Given the description of an element on the screen output the (x, y) to click on. 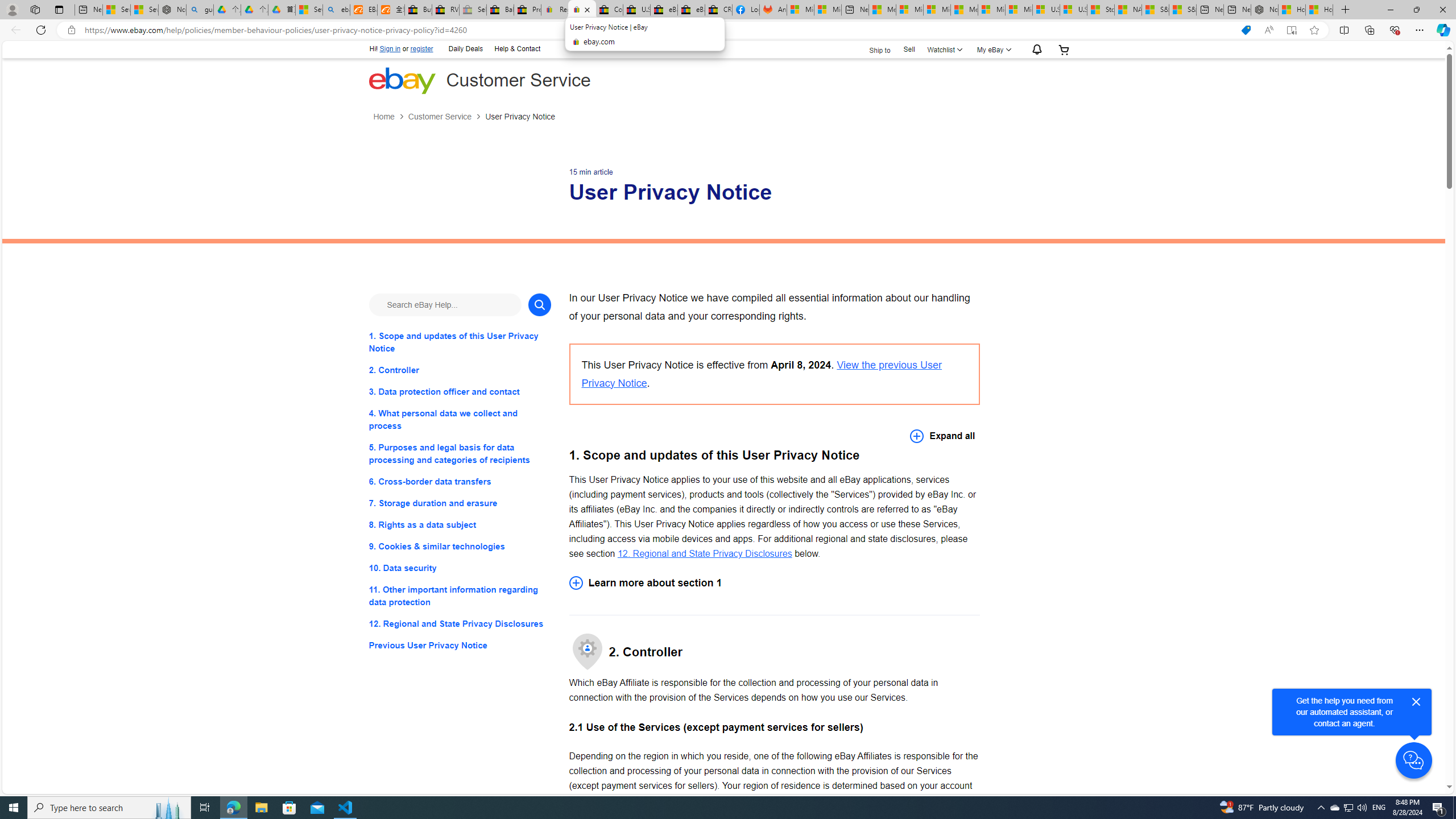
2. Controller (459, 369)
7. Storage duration and erasure (459, 503)
Search eBay Help... (444, 304)
Previous User Privacy Notice (459, 645)
My eBay (992, 49)
6. Cross-border data transfers (459, 481)
